Given the description of an element on the screen output the (x, y) to click on. 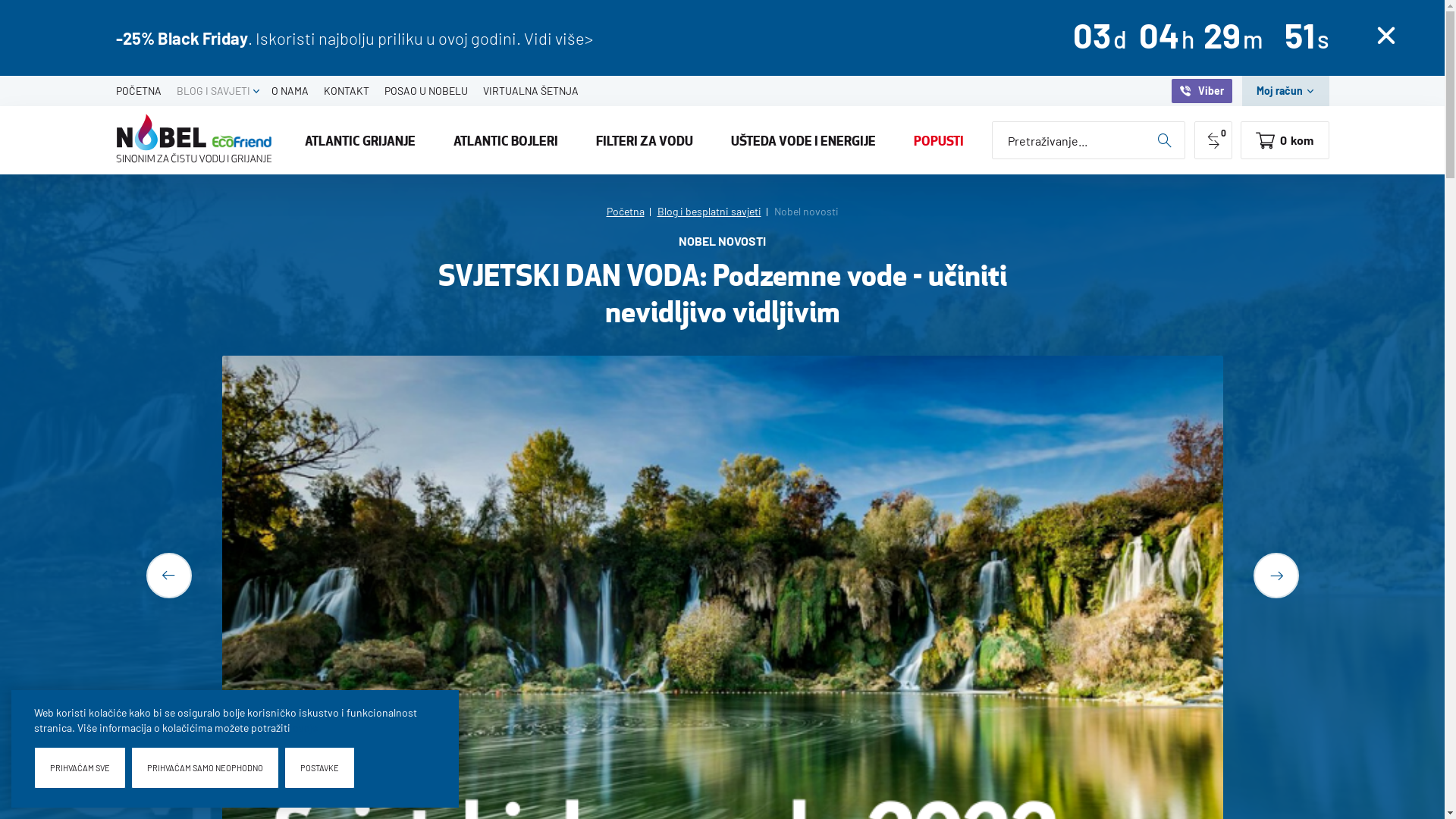
O NAMA Element type: text (289, 90)
Viber Element type: text (1200, 90)
0 kom Element type: text (1284, 140)
KONTAKT Element type: text (345, 90)
POSAO U NOBELU Element type: text (425, 90)
Nobel novosti Element type: text (805, 210)
POSTAVKE Element type: text (319, 767)
NOBEL NOVOSTI Element type: text (721, 244)
ATLANTIC GRIJANJE Element type: text (360, 140)
FILTERI ZA VODU Element type: text (644, 140)
ATLANTIC BOJLERI Element type: text (505, 140)
ovdje Element type: text (304, 727)
POPUSTI Element type: text (938, 140)
BLOG I SAVJETI Element type: text (212, 90)
Blog i besplatni savjeti Element type: text (713, 210)
